Given the description of an element on the screen output the (x, y) to click on. 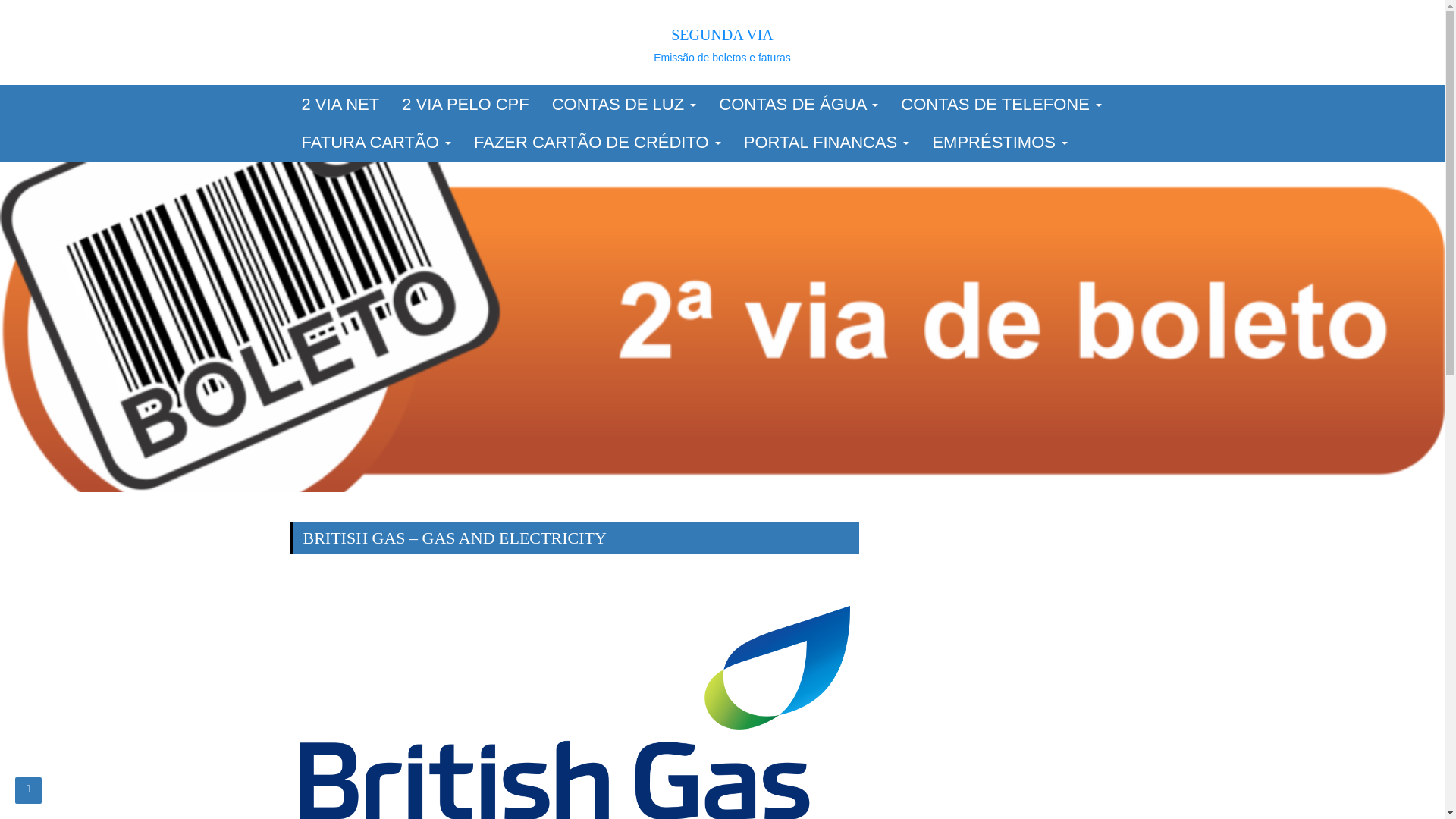
2 VIA PELO CPF (465, 104)
PORTAL FINANCAS (826, 142)
2 VIA NET (339, 104)
CONTAS DE TELEFONE (1001, 104)
2 VIA PELO CPF (465, 104)
CONTAS DE TELEFONE (1001, 104)
CONTAS DE LUZ (623, 104)
2 VIA NET (339, 104)
CONTAS DE LUZ (623, 104)
